Given the description of an element on the screen output the (x, y) to click on. 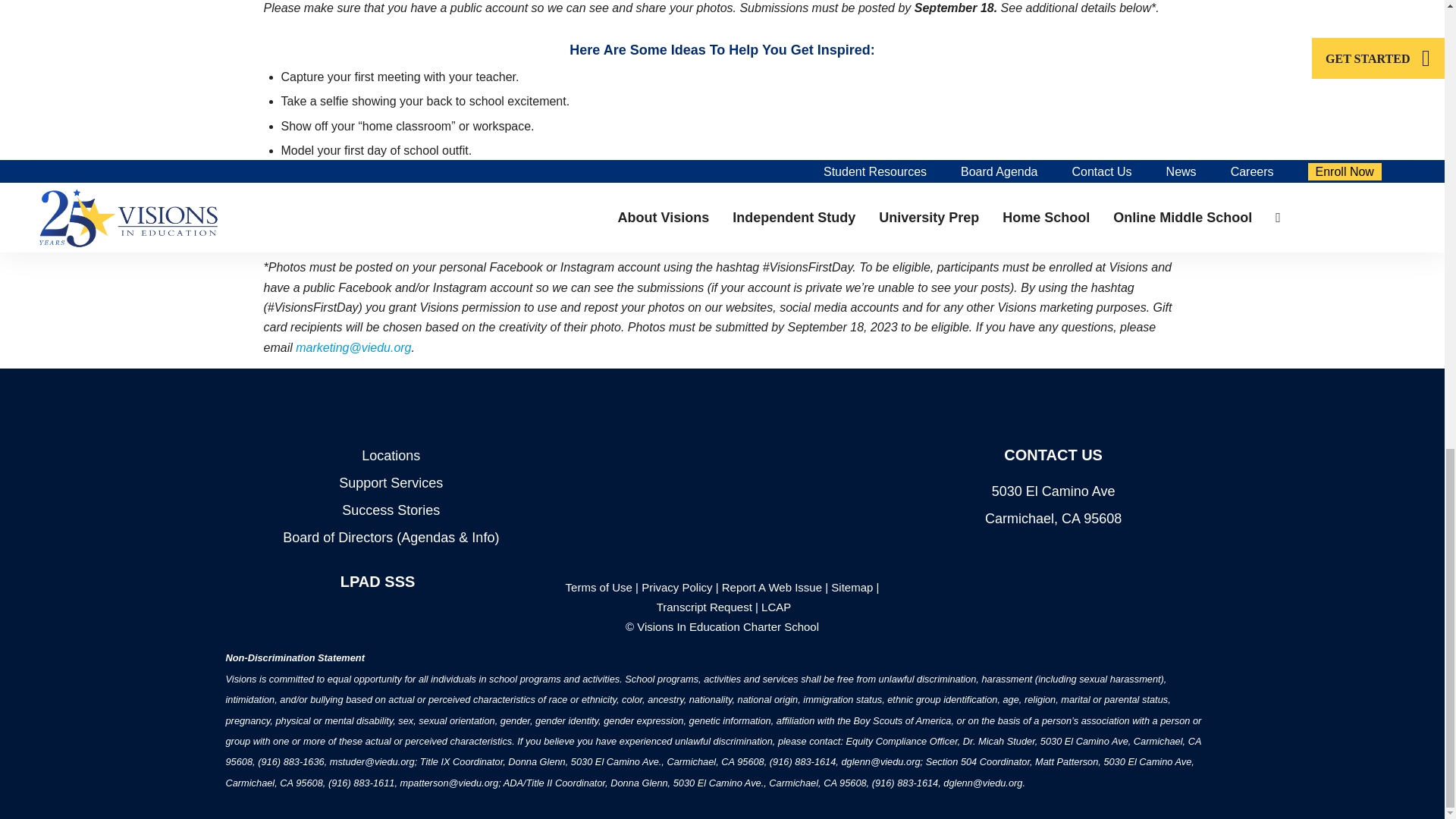
Visions In Education (721, 423)
